Given the description of an element on the screen output the (x, y) to click on. 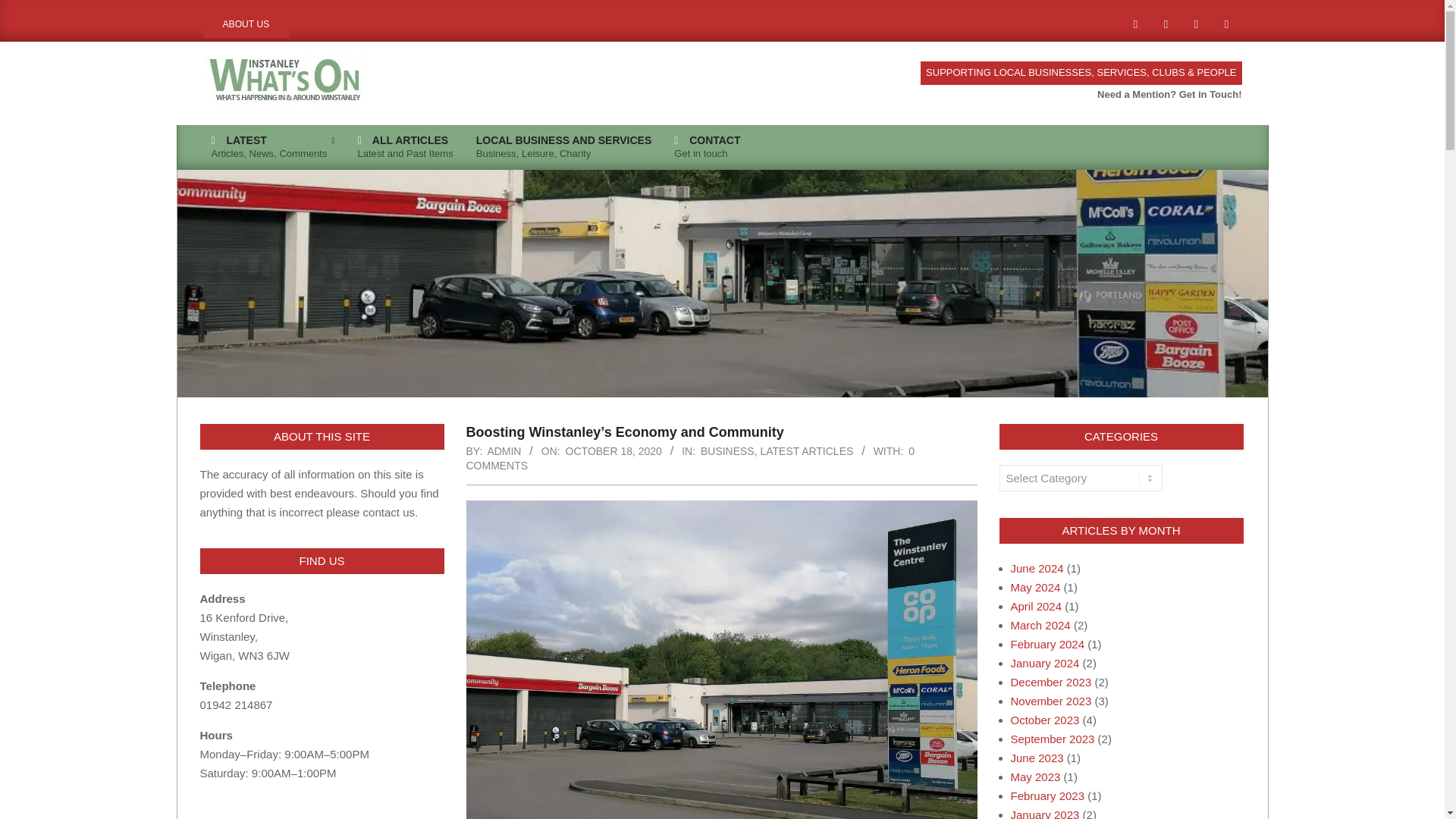
May 2024 (1034, 586)
March 2024 (1040, 625)
Posts by admin (503, 451)
Sunday, October 18, 2020, 7:57 pm (614, 451)
June 2024 (1036, 567)
October 2023 (273, 147)
December 2023 (1044, 719)
ABOUT US (1050, 681)
February 2024 (246, 24)
